Given the description of an element on the screen output the (x, y) to click on. 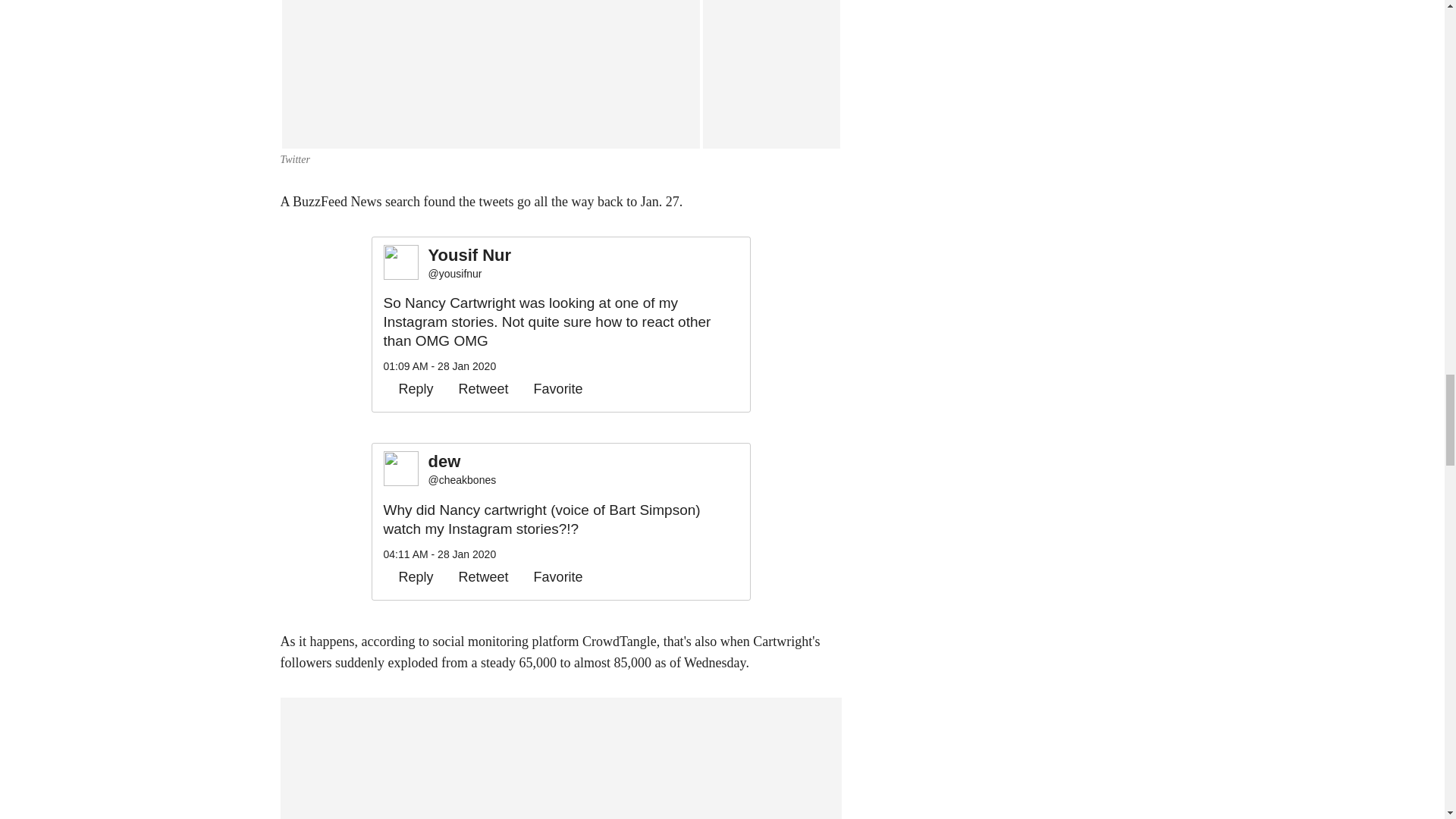
Yousif Nur (470, 255)
01:09 AM - 28 Jan 2020 (440, 366)
Reply (408, 388)
Retweet (476, 388)
Favorite (550, 388)
dew (462, 462)
